Given the description of an element on the screen output the (x, y) to click on. 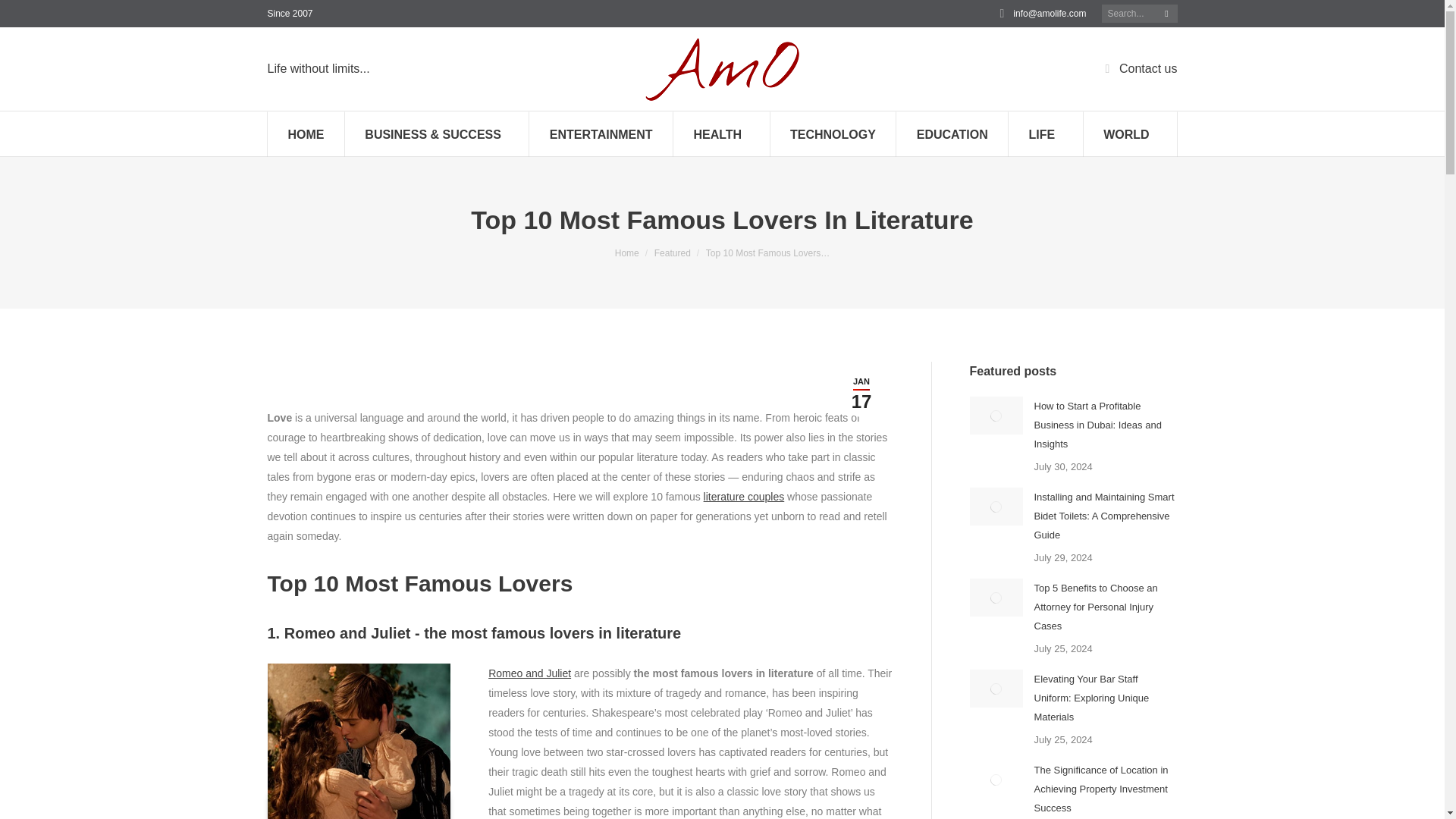
TECHNOLOGY (833, 133)
LIFE (1046, 133)
Romeo and Juliet Love Story (357, 741)
Search form (1139, 13)
Featured (671, 253)
WORLD (1129, 133)
HEALTH (721, 133)
Go! (28, 18)
HOME (304, 133)
Home (626, 253)
8:57 pm (861, 392)
EDUCATION (952, 133)
Contact us (1137, 68)
ENTERTAINMENT (600, 133)
